Given the description of an element on the screen output the (x, y) to click on. 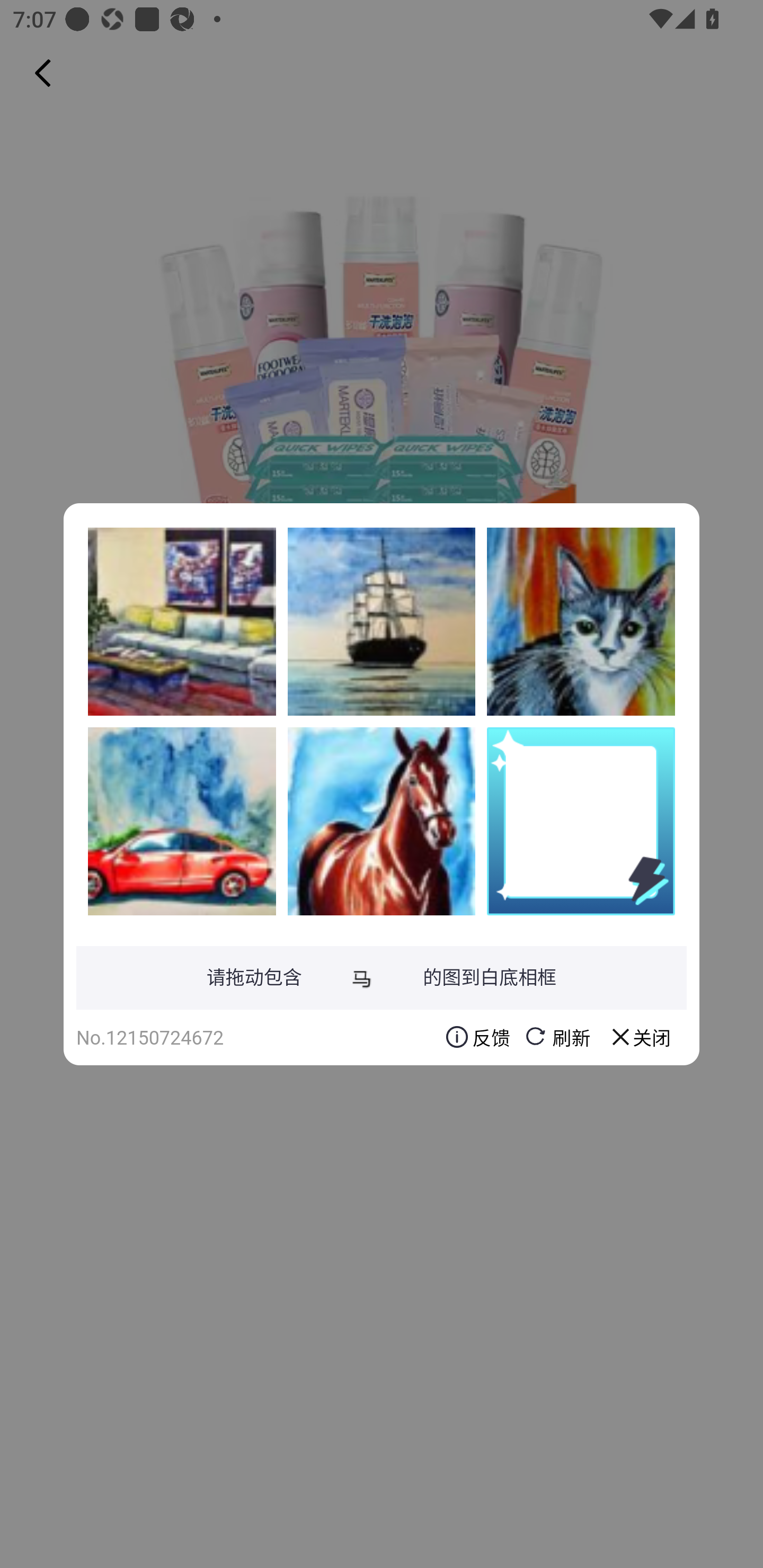
uMCwwhQUChuQGlKYSePMXeuJ3lqBWDOjPs (181, 621)
I7c2beLNrBx4blvN+wzyCb+ (381, 820)
